Given the description of an element on the screen output the (x, y) to click on. 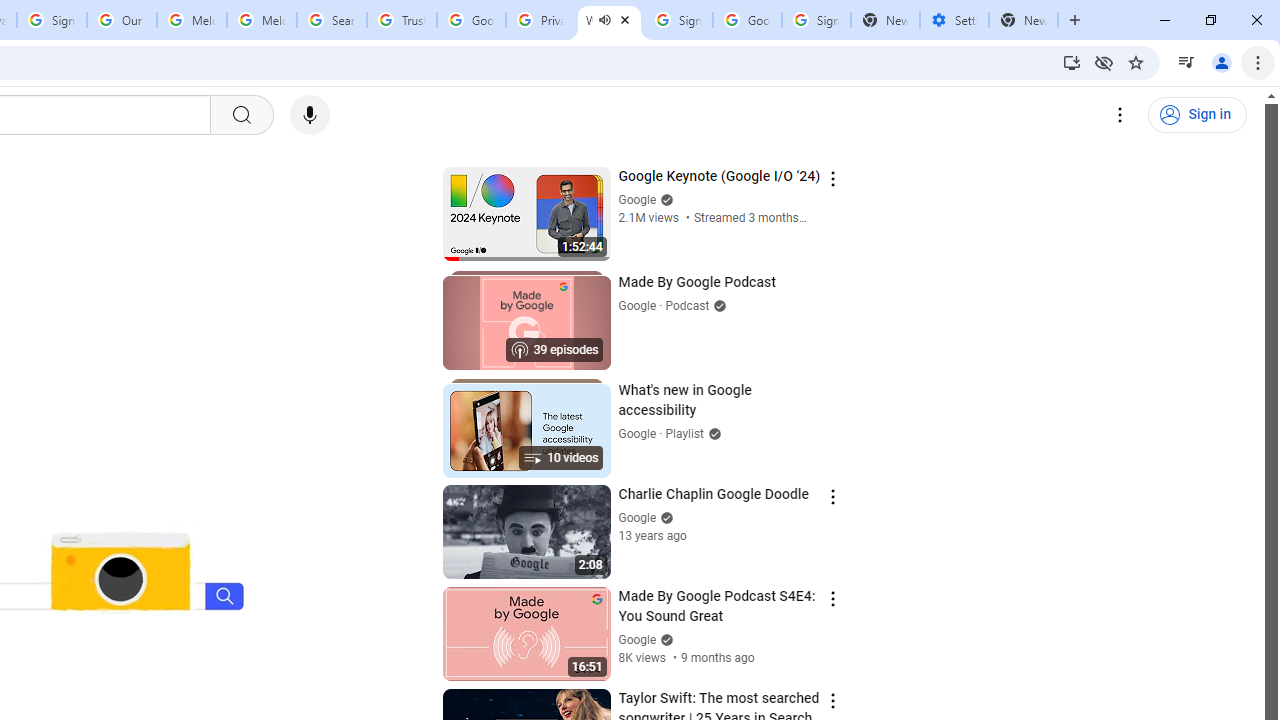
Sign in - Google Accounts (51, 20)
Sign in - Google Accounts (677, 20)
Settings - Addresses and more (954, 20)
Google Ads - Sign in (470, 20)
Google Cybersecurity Innovations - Google Safety Center (747, 20)
